Given the description of an element on the screen output the (x, y) to click on. 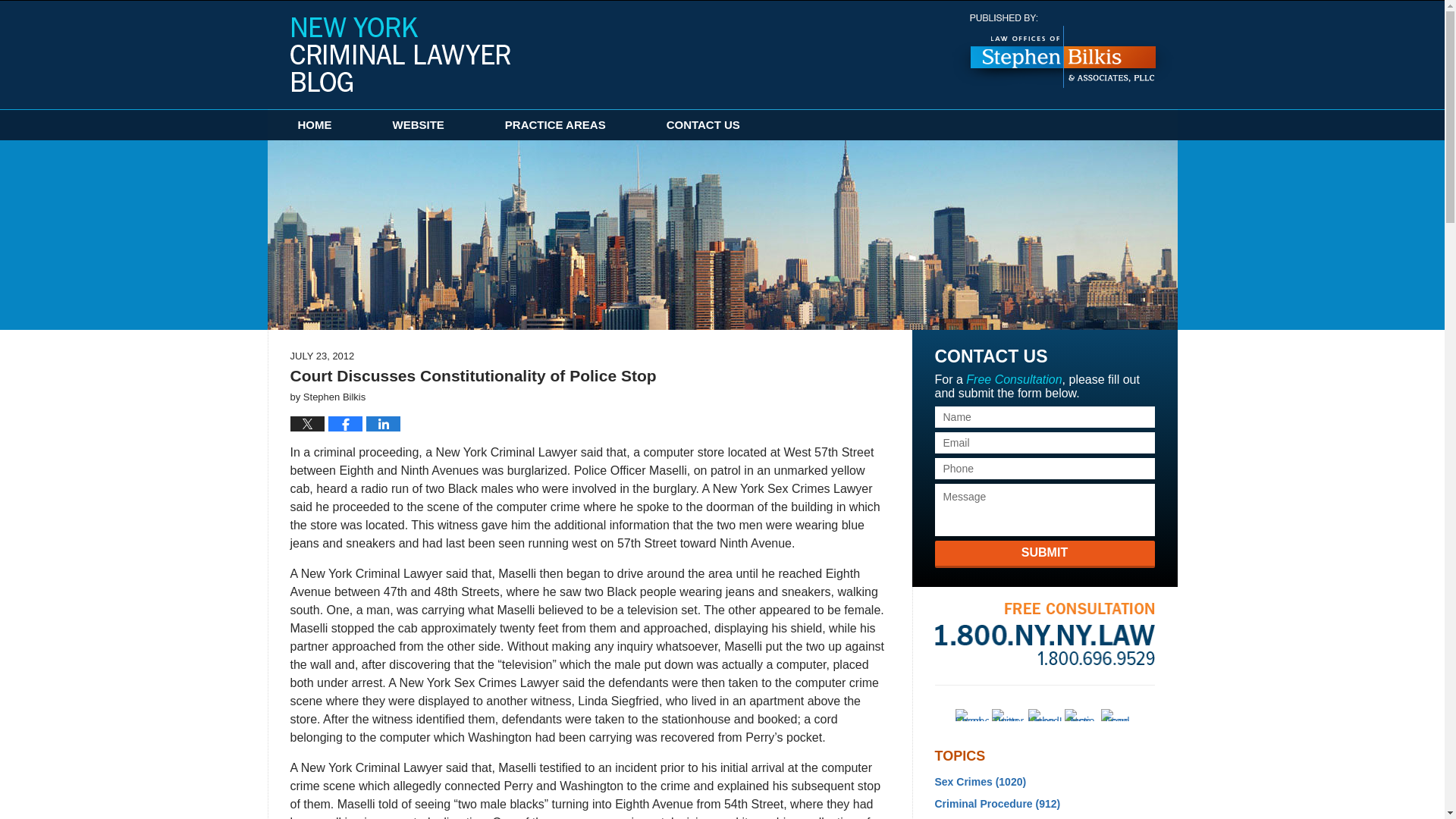
Please enter a valid phone number. (1044, 468)
New York Criminal Lawyer Blog (399, 54)
Feed (1117, 715)
CONTACT US (703, 124)
Justia (1080, 715)
LinkedIn (1044, 715)
Facebook (971, 715)
SUBMIT (1044, 554)
WEBSITE (418, 124)
Twitter (1008, 715)
